Given the description of an element on the screen output the (x, y) to click on. 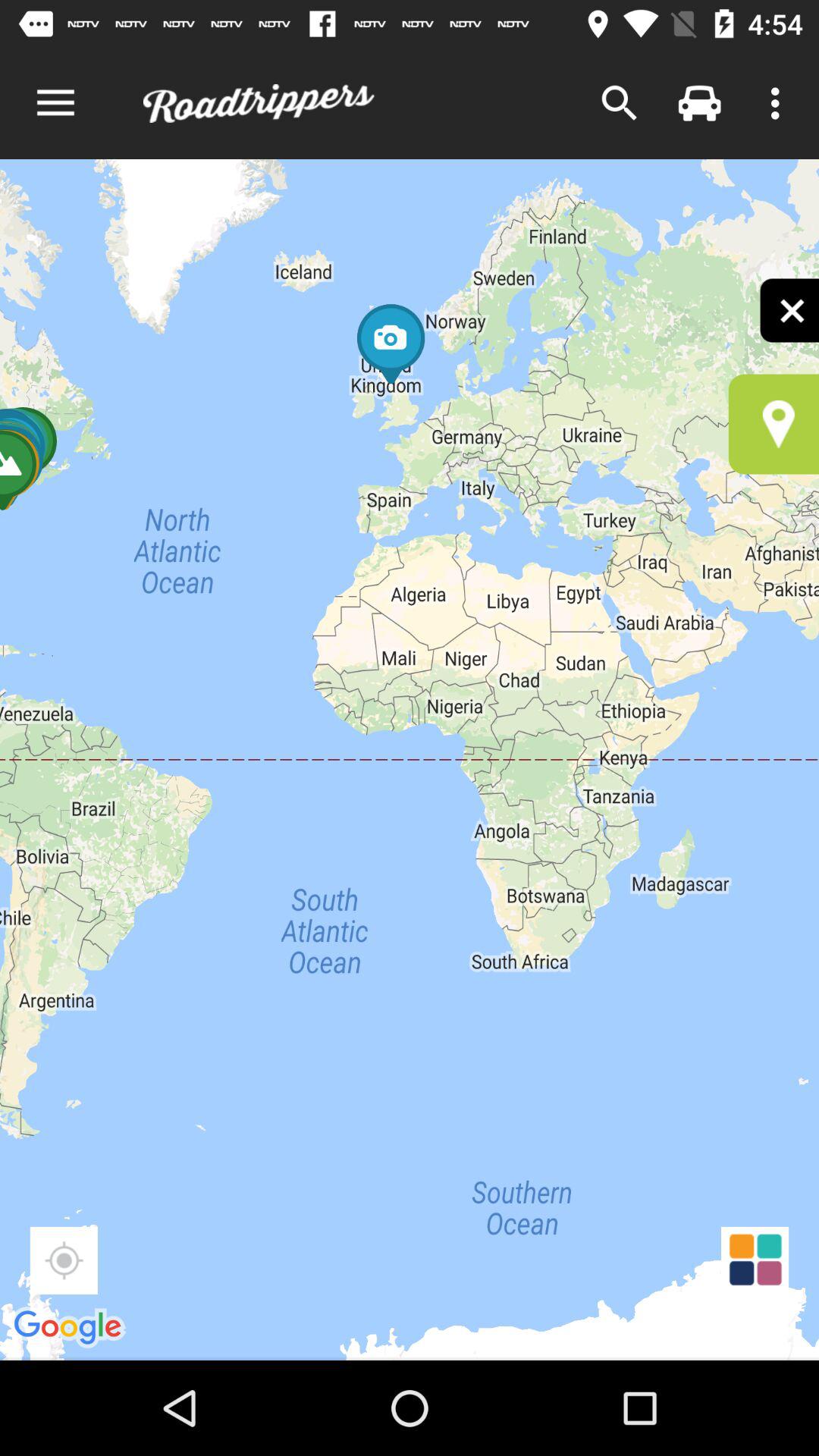
press the item at the center (409, 759)
